Given the description of an element on the screen output the (x, y) to click on. 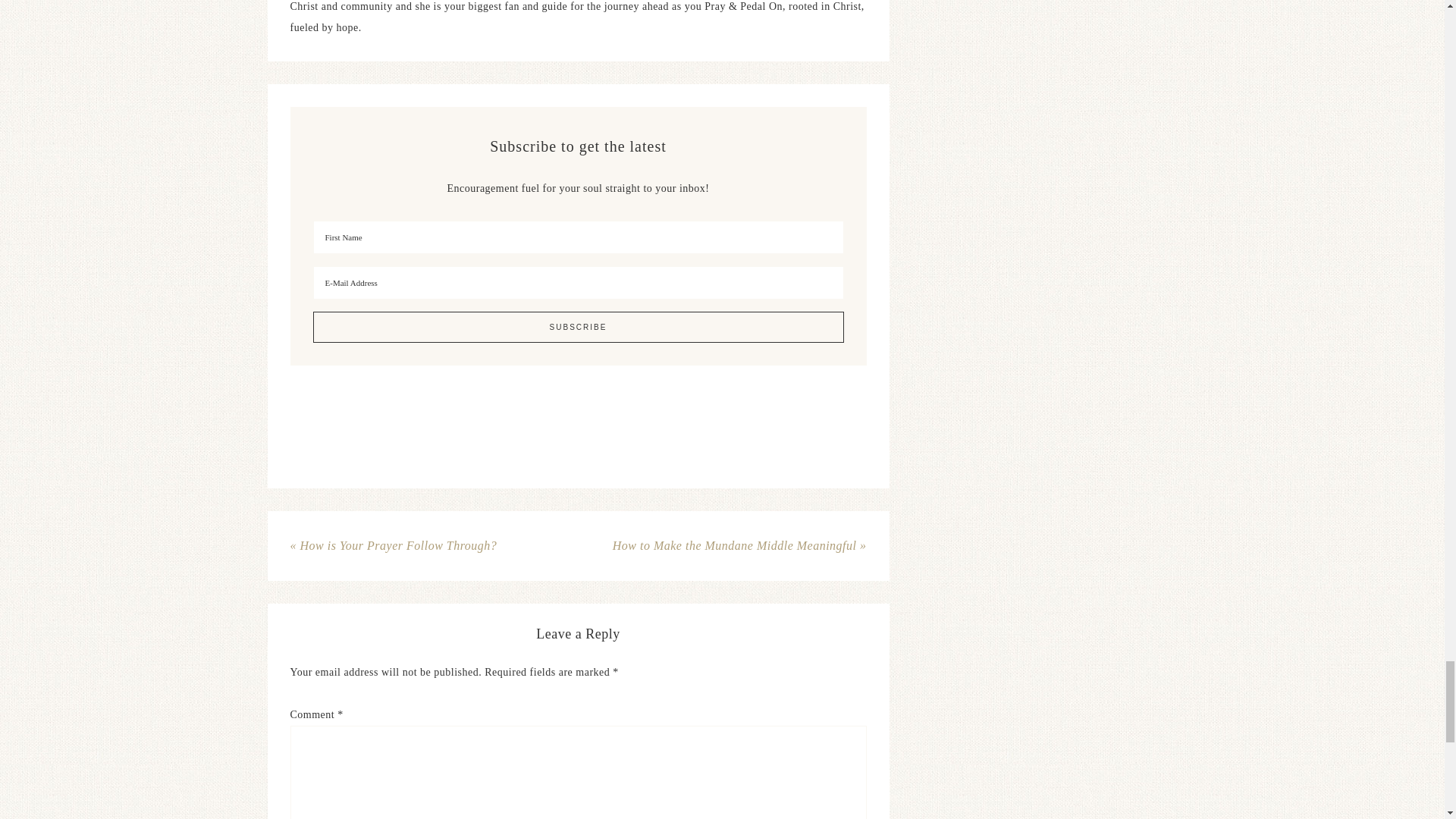
Subscribe (578, 327)
